Given the description of an element on the screen output the (x, y) to click on. 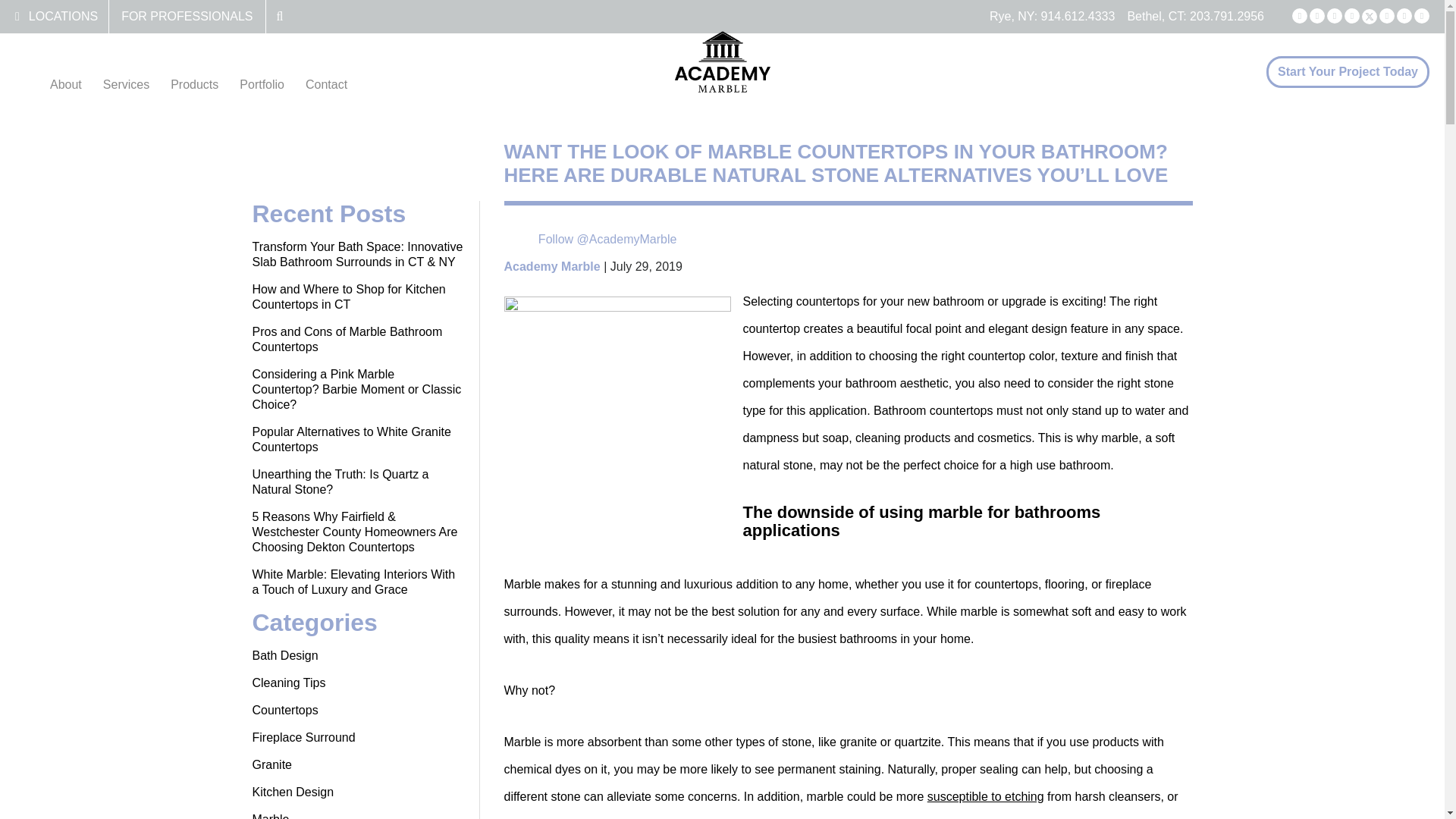
203.791.2956 (1226, 15)
LOCATIONS (63, 15)
914.612.4333 (1078, 15)
FOR PROFESSIONALS (185, 15)
